Given the description of an element on the screen output the (x, y) to click on. 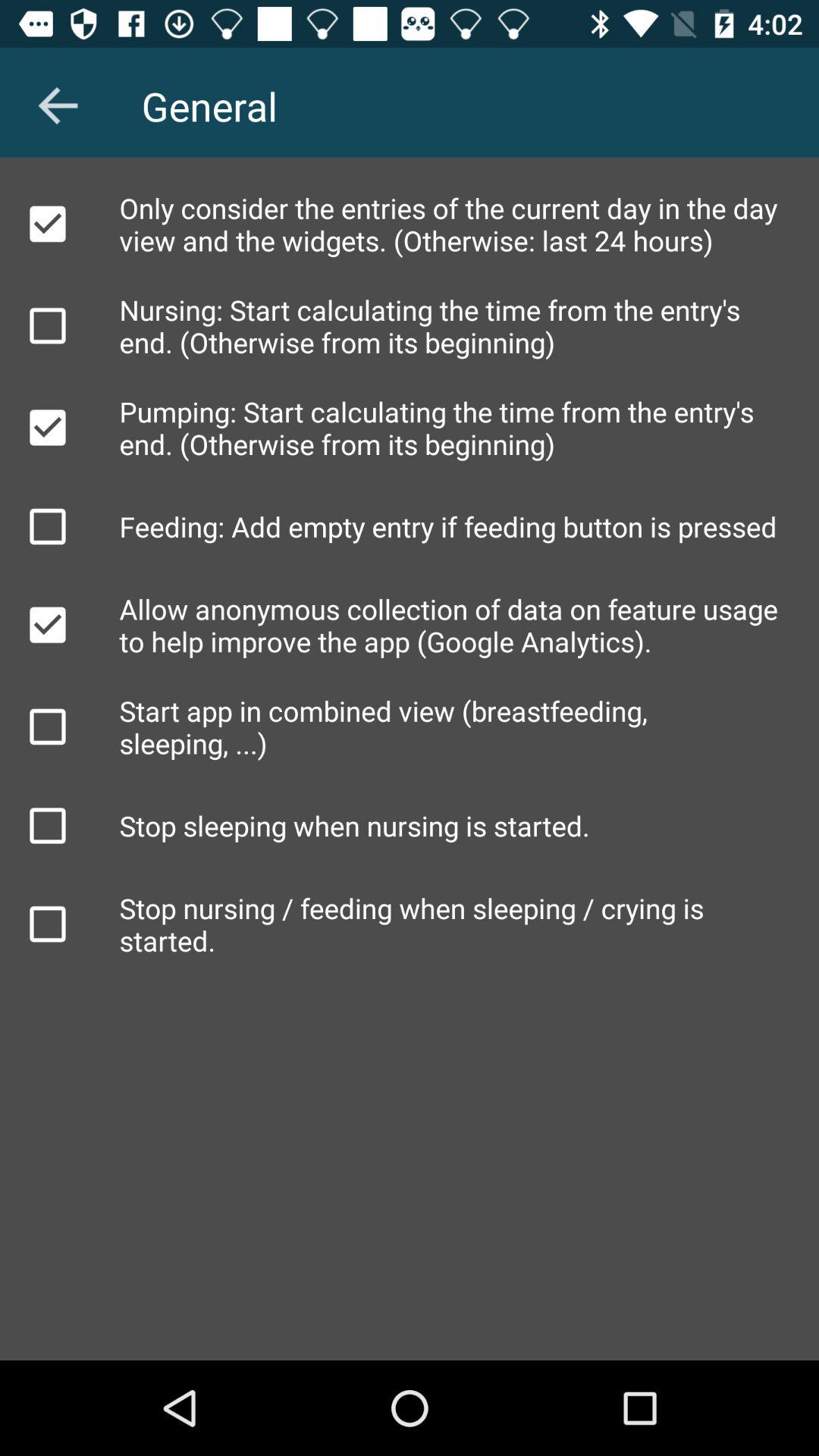
edit to-do list (47, 924)
